Given the description of an element on the screen output the (x, y) to click on. 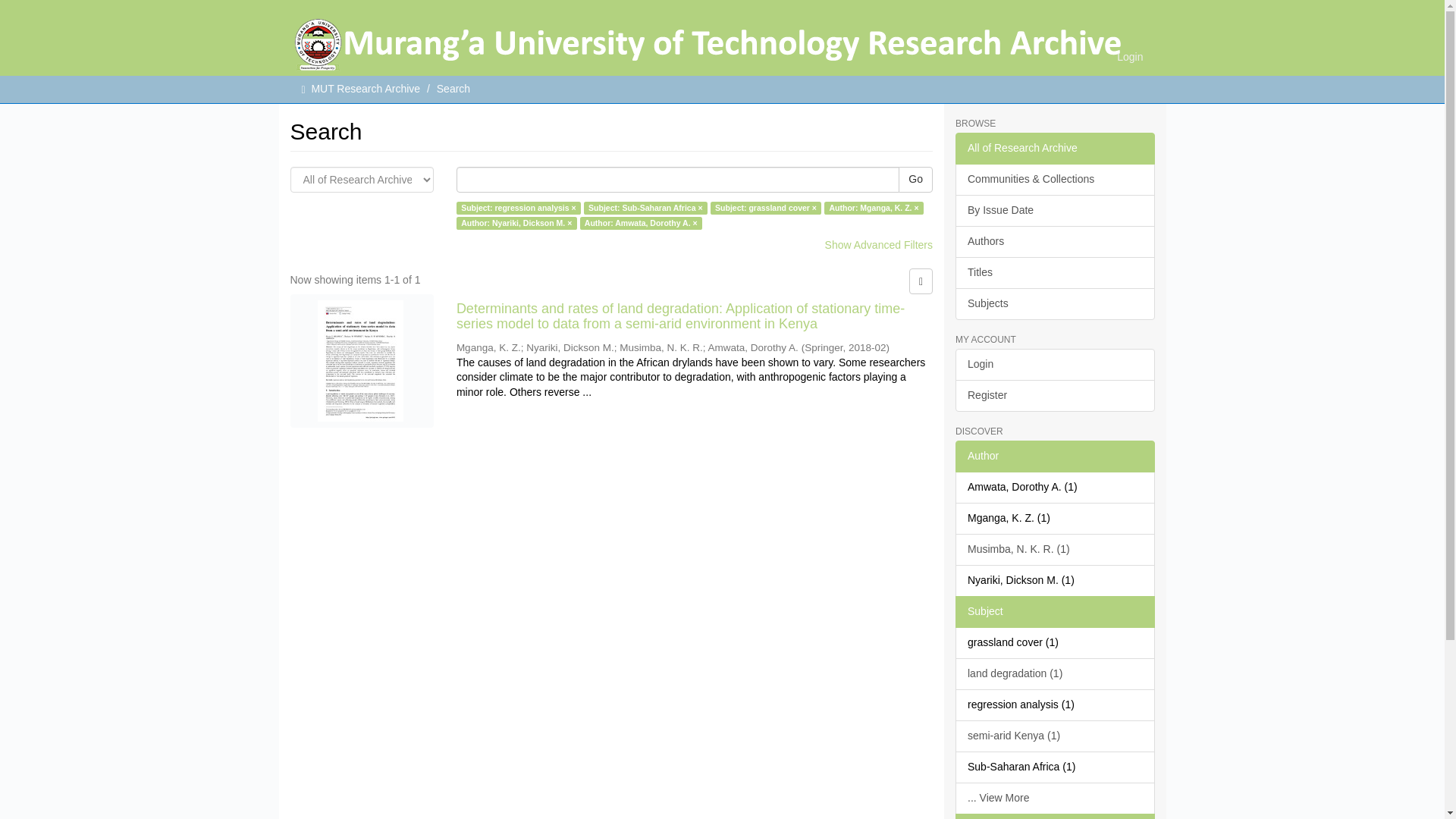
Show Advanced Filters (879, 244)
MUT Research Archive (365, 88)
Go (915, 179)
Login (1129, 56)
